Given the description of an element on the screen output the (x, y) to click on. 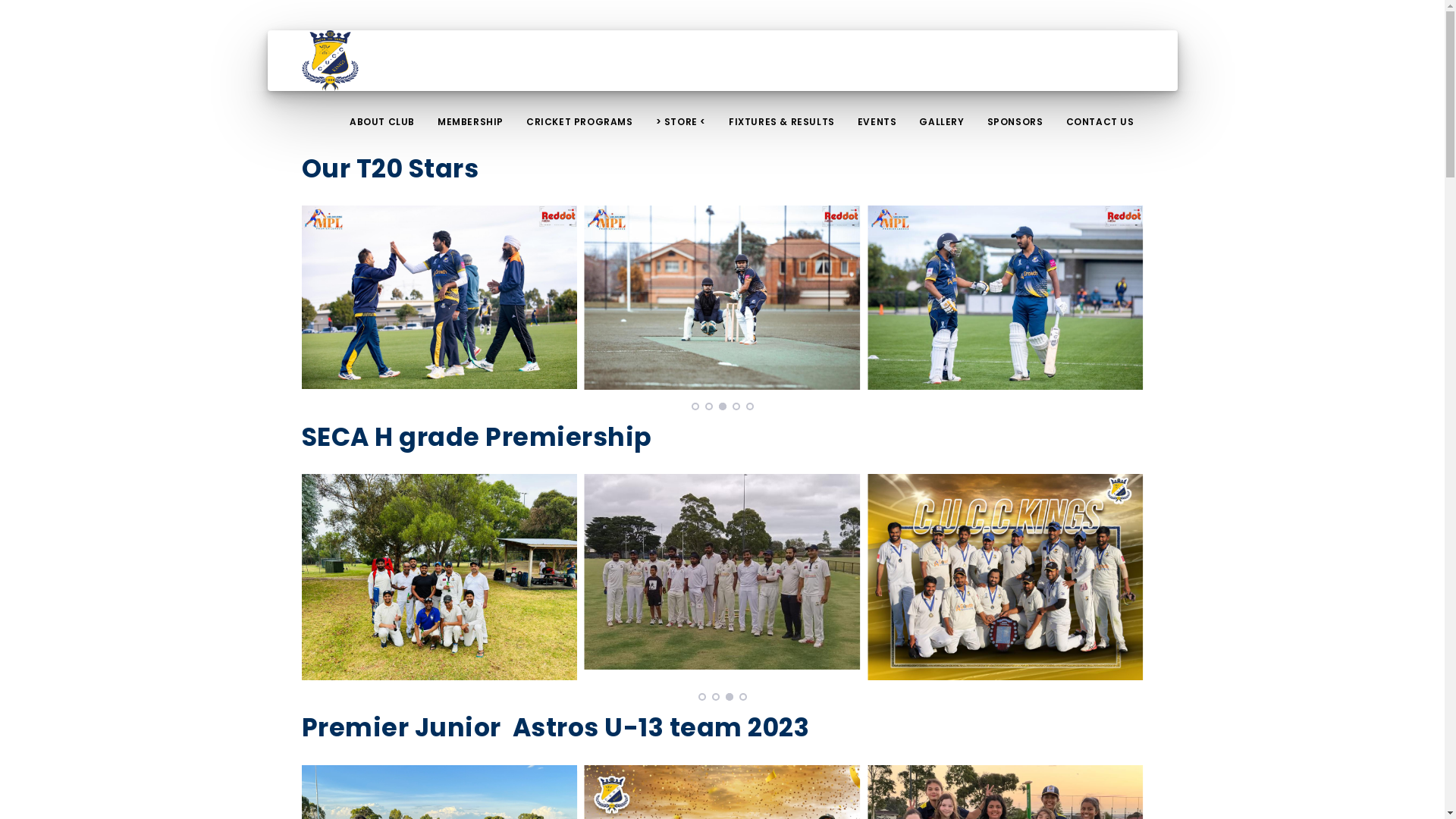
SPONSORS Element type: text (1015, 121)
ABOUT CLUB Element type: text (381, 121)
CONTACT US Element type: text (1100, 121)
CRICKET PROGRAMS Element type: text (579, 121)
> STORE < Element type: text (680, 121)
MEMBERSHIP Element type: text (470, 121)
EVENTS Element type: text (877, 121)
GALLERY Element type: text (941, 121)
FIXTURES & RESULTS Element type: text (781, 121)
